Given the description of an element on the screen output the (x, y) to click on. 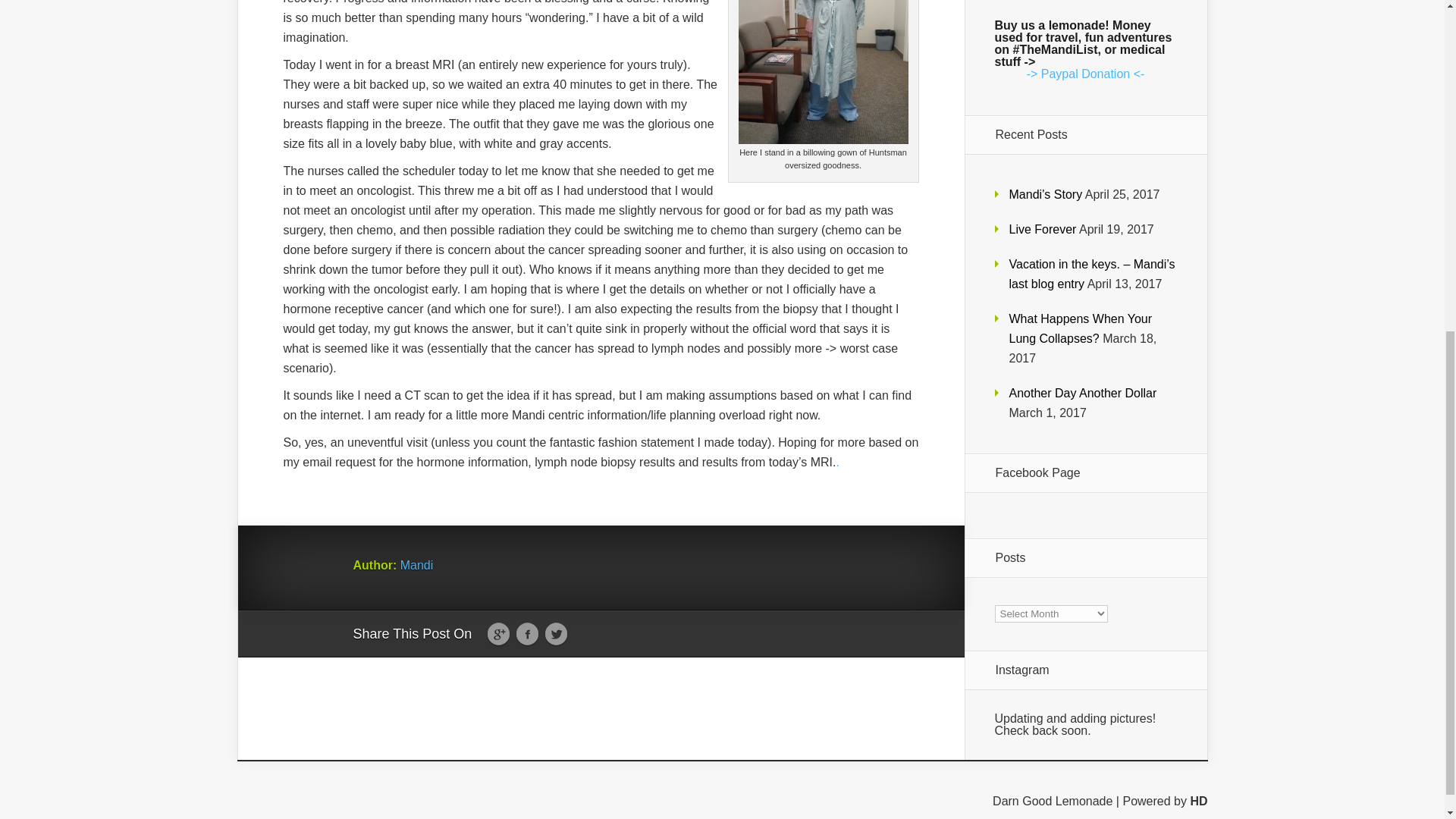
Mandi (416, 564)
Another Day Another Dollar (1082, 392)
Twitter (555, 634)
Live Forever (1042, 228)
big-gown (823, 72)
HD (1198, 800)
Facebook (526, 634)
What Happens When Your Lung Collapses? (1080, 328)
Google (498, 634)
